Given the description of an element on the screen output the (x, y) to click on. 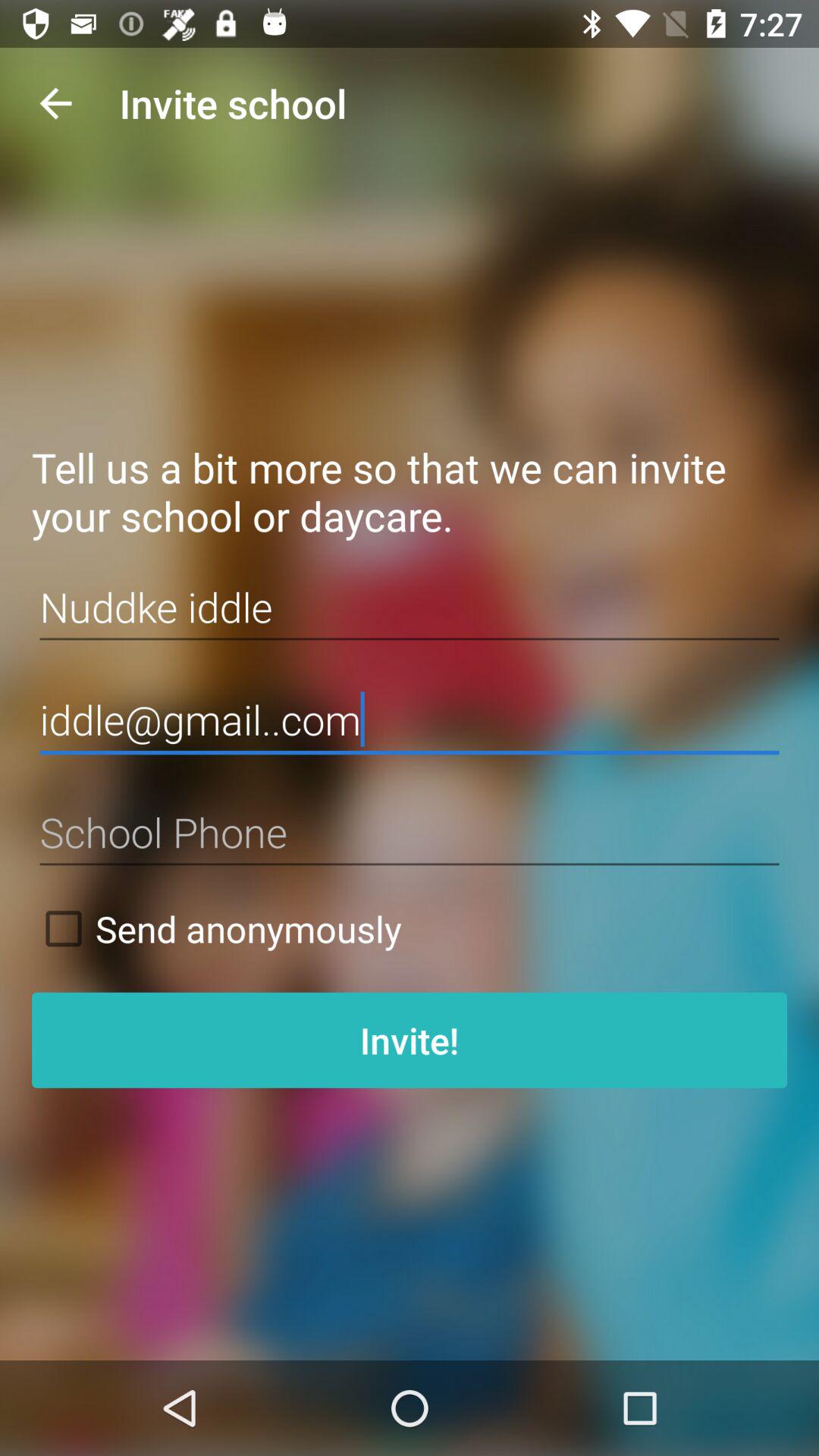
the button is used to share the article to others (409, 832)
